Given the description of an element on the screen output the (x, y) to click on. 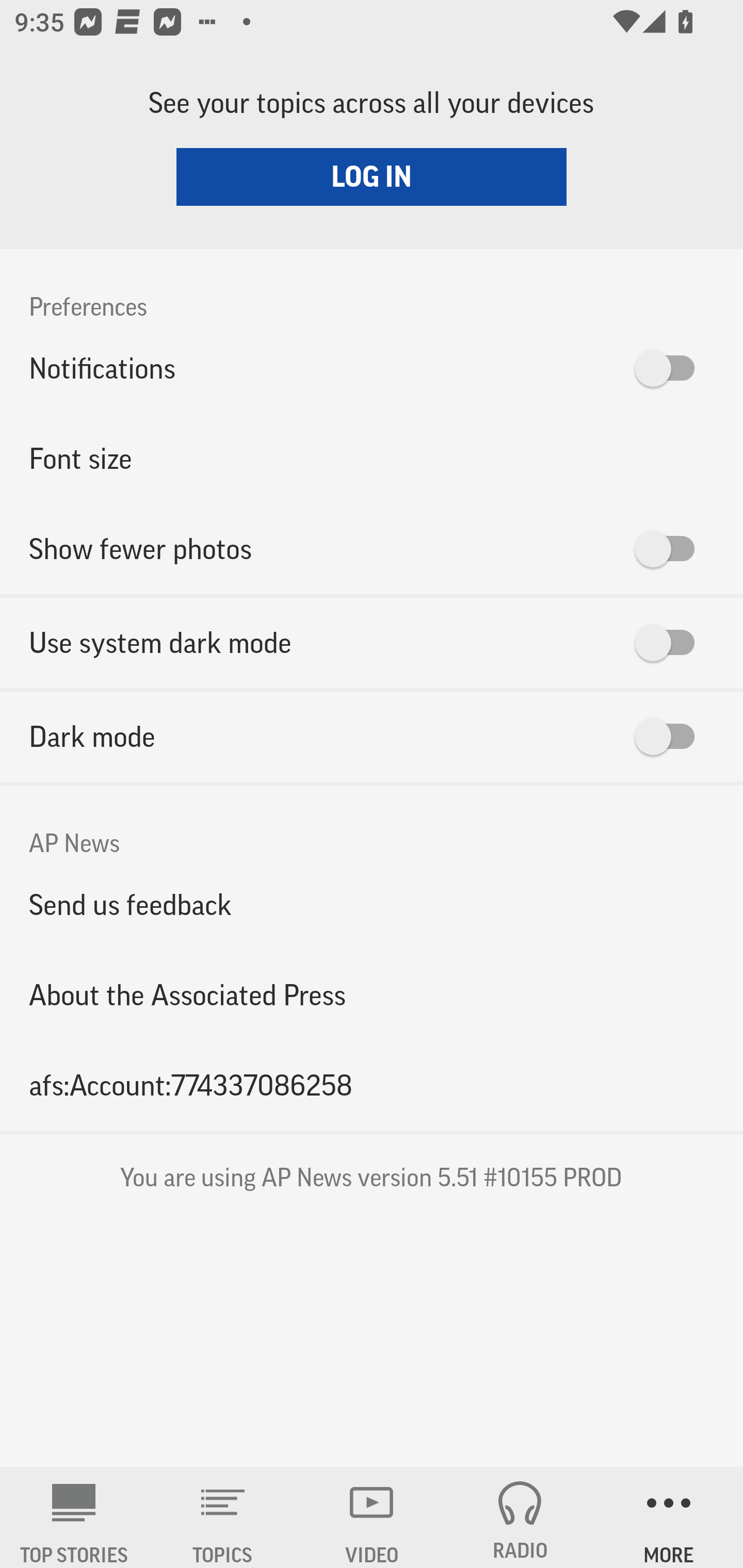
LOG IN (371, 176)
Notifications (371, 368)
Font size (371, 458)
Show fewer photos (371, 548)
Use system dark mode (371, 642)
Dark mode (371, 736)
Send us feedback (371, 904)
About the Associated Press (371, 994)
afs:Account:774337086258 (371, 1084)
AP News TOP STORIES (74, 1517)
TOPICS (222, 1517)
VIDEO (371, 1517)
RADIO (519, 1517)
MORE (668, 1517)
